Given the description of an element on the screen output the (x, y) to click on. 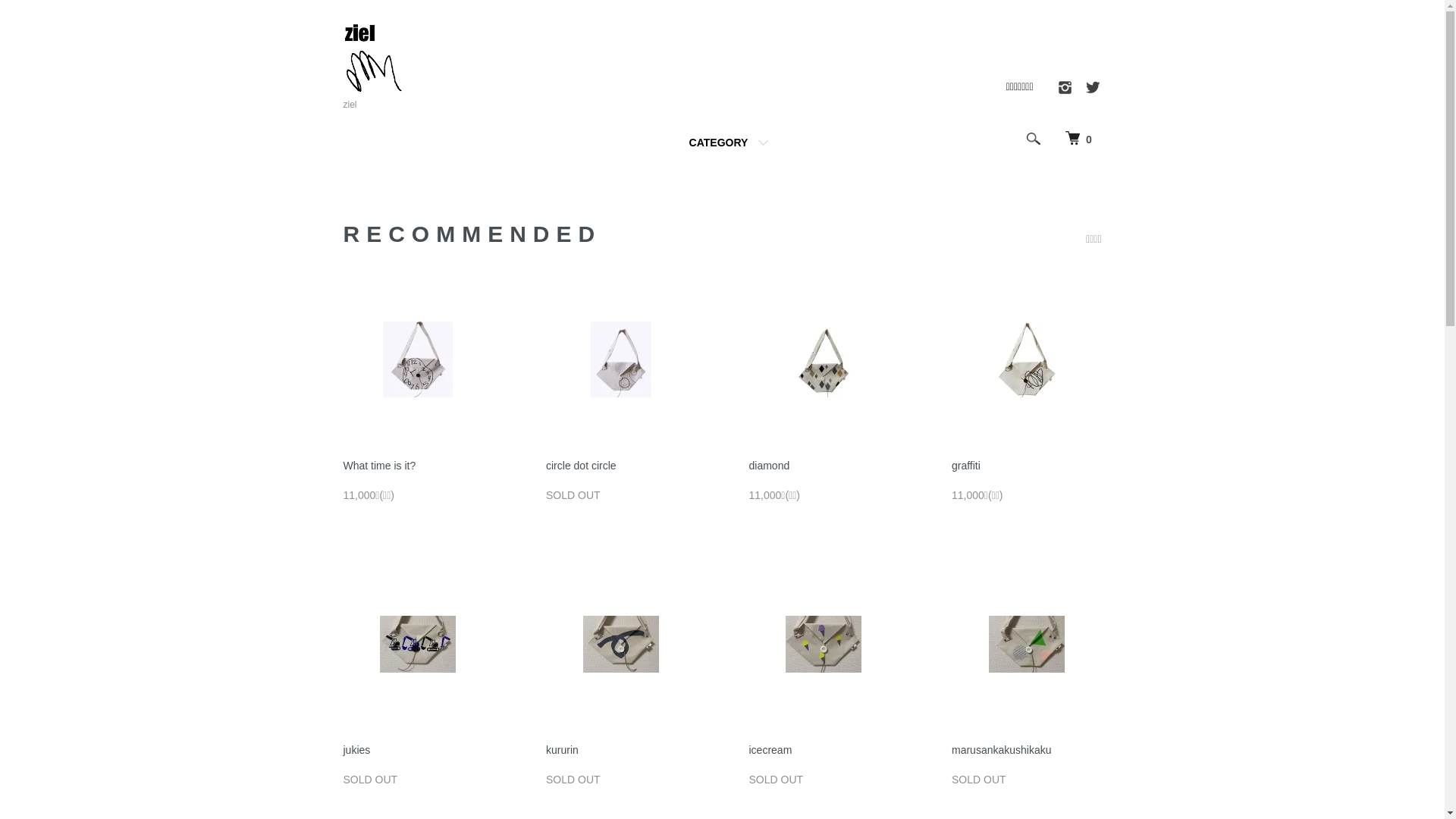
jukies Element type: text (356, 749)
icecream Element type: text (770, 749)
0 Element type: text (1078, 138)
graffiti Element type: text (965, 465)
What time is it? Element type: text (378, 465)
circle dot circle Element type: text (581, 465)
kururin Element type: text (562, 749)
marusankakushikaku Element type: text (1001, 749)
diamond Element type: text (769, 465)
CATEGORY Element type: text (722, 142)
